Given the description of an element on the screen output the (x, y) to click on. 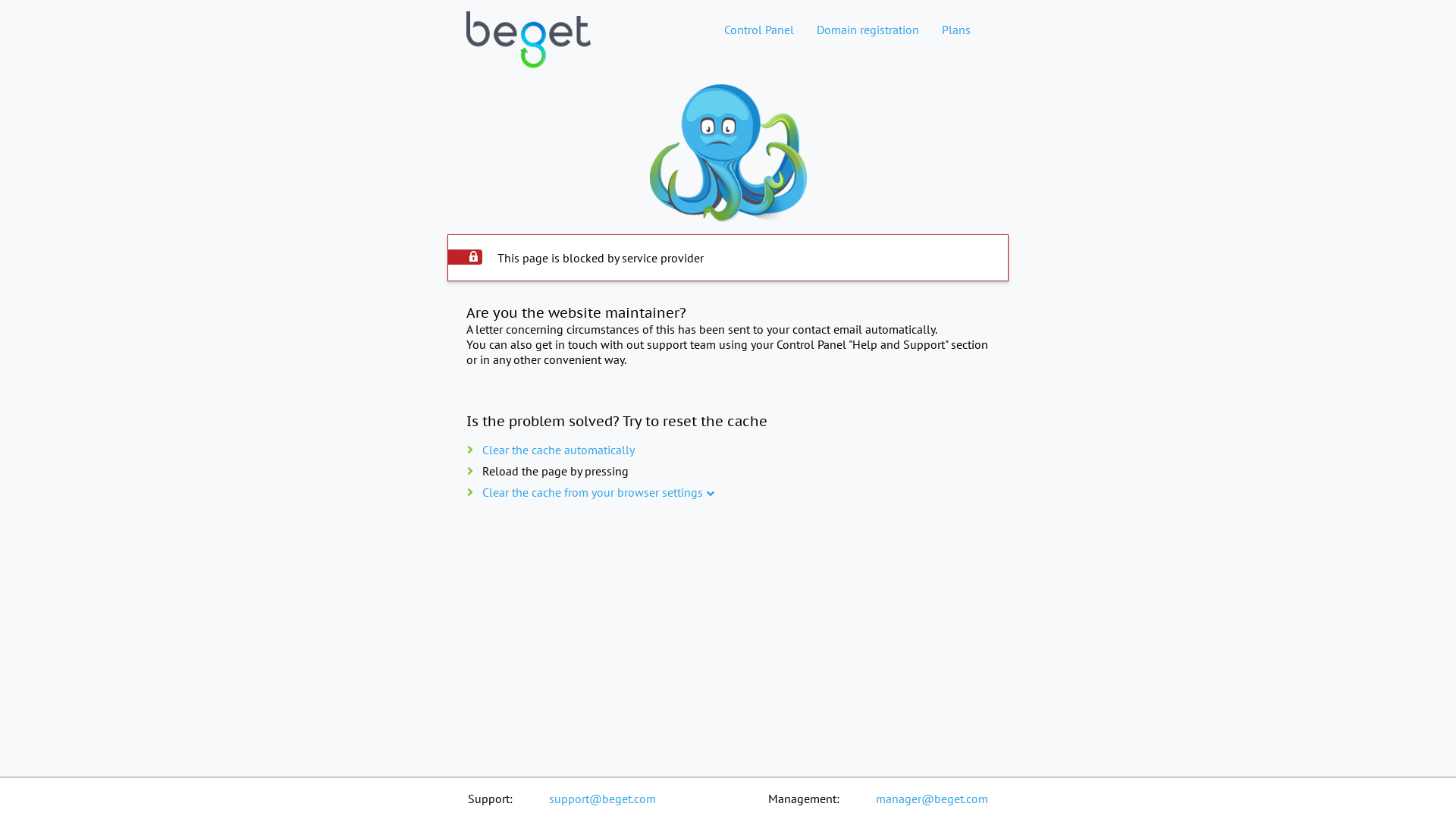
support@beget.com Element type: text (602, 798)
Clear the cache from your browser settings Element type: text (592, 491)
Domain registration Element type: text (867, 29)
Control Panel Element type: text (758, 29)
manager@beget.com Element type: text (931, 798)
Plans Element type: text (956, 29)
Web hosting home page Element type: hover (528, 51)
Clear the cache automatically Element type: text (558, 449)
